Given the description of an element on the screen output the (x, y) to click on. 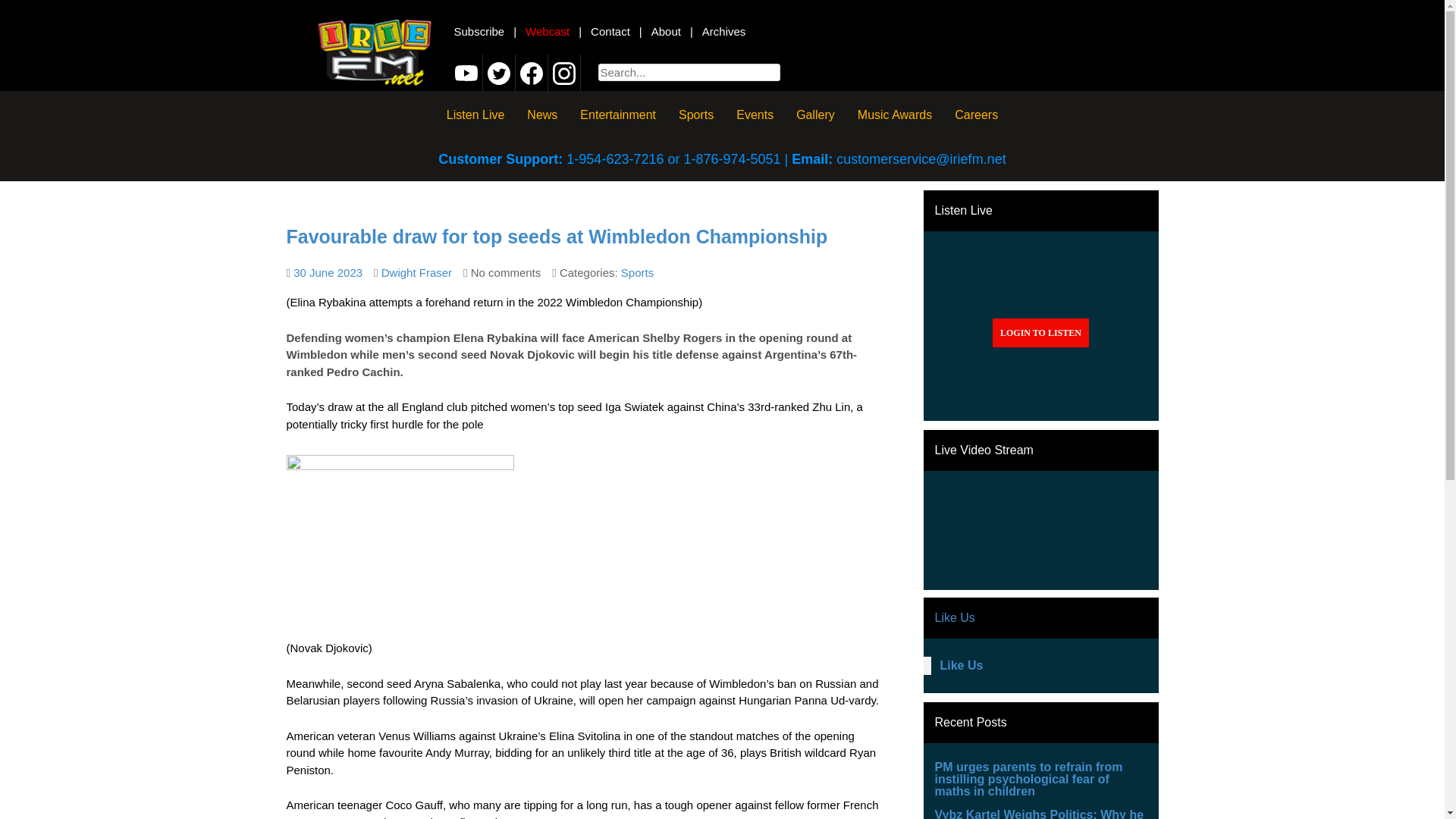
Contact (610, 31)
Archives (723, 31)
Sports (637, 272)
Entertainment (617, 114)
LOGIN TO LISTEN (1040, 332)
Subscribe (477, 31)
Music Awards (894, 114)
LOGIN TO LISTEN (1040, 332)
Gallery (814, 114)
Dwight Fraser (416, 272)
